Given the description of an element on the screen output the (x, y) to click on. 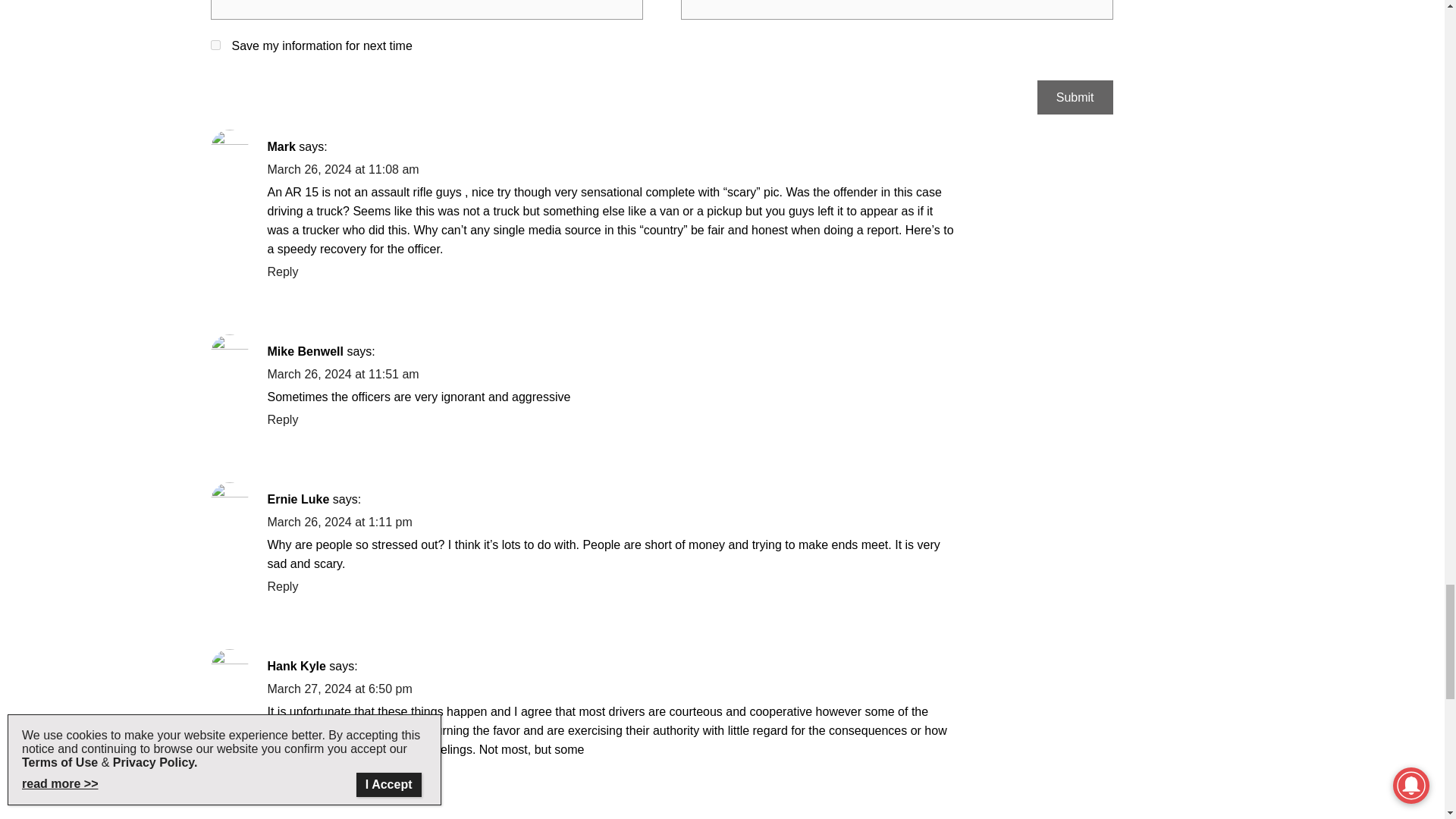
Submit (1074, 97)
yes (216, 44)
